Given the description of an element on the screen output the (x, y) to click on. 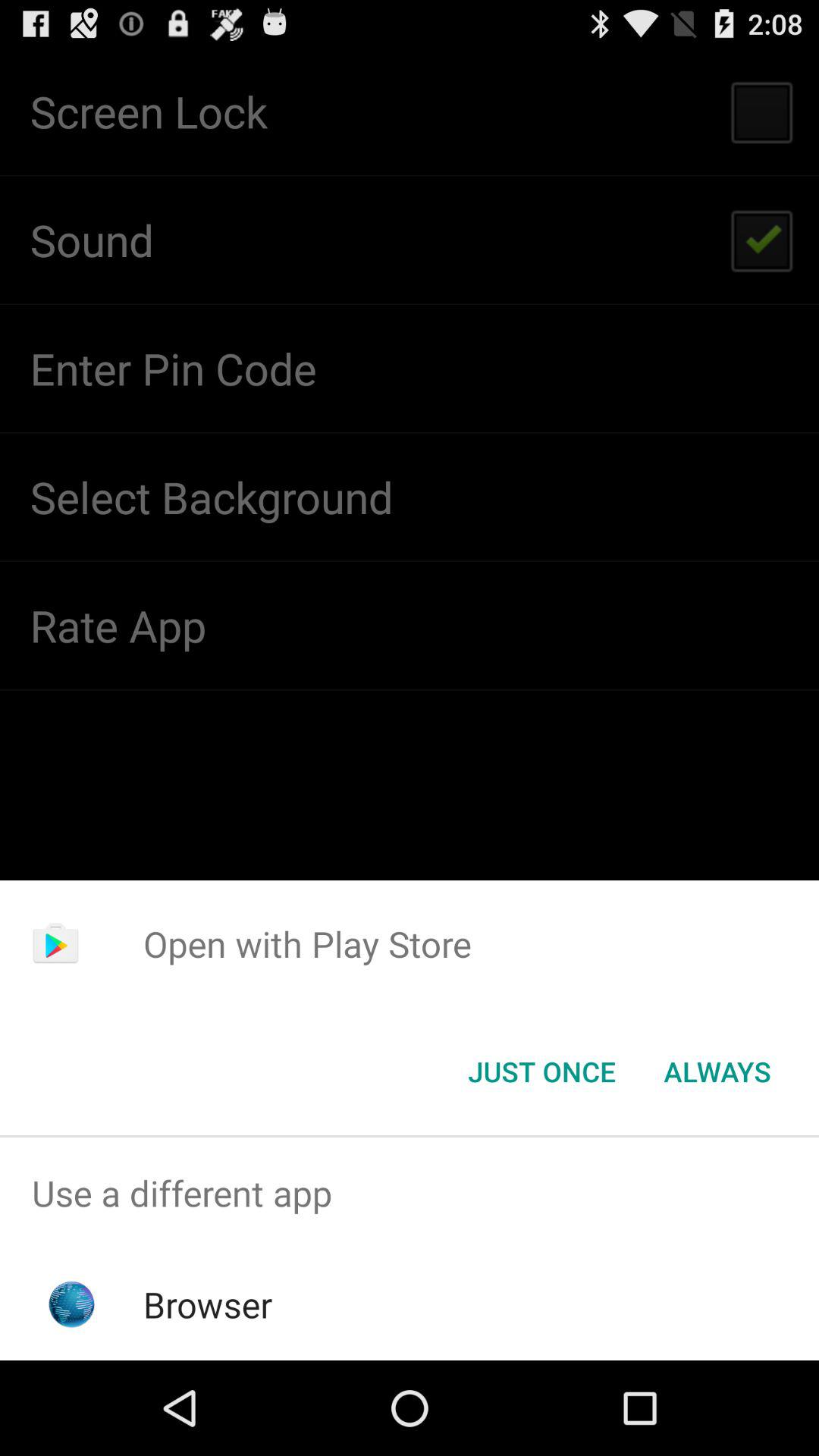
turn off the icon next to the always button (541, 1071)
